Given the description of an element on the screen output the (x, y) to click on. 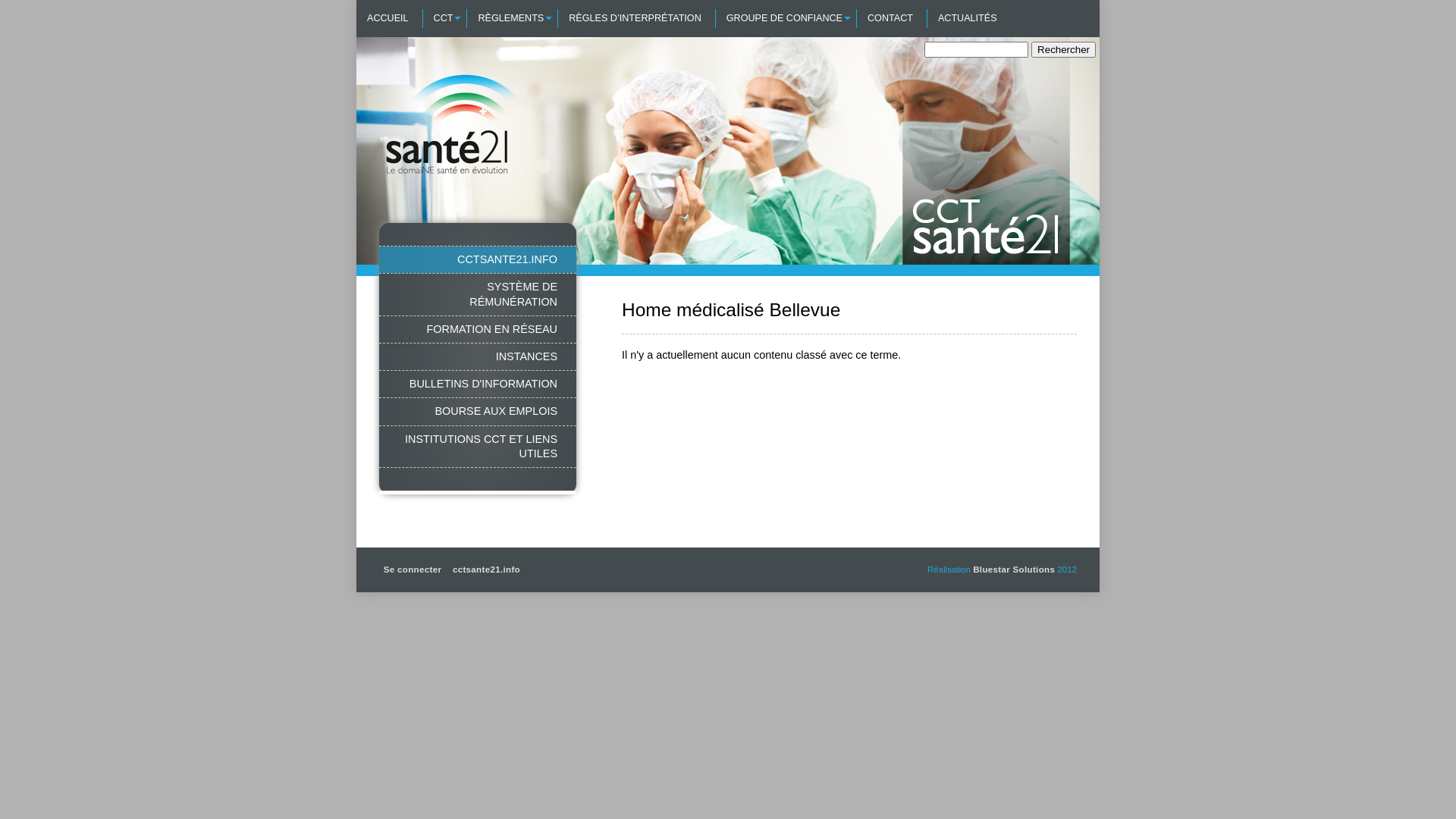
ACCUEIL Element type: text (387, 18)
CCT Element type: text (443, 18)
CONTACT Element type: text (889, 18)
Rechercher Element type: text (1063, 49)
Accueil Element type: hover (467, 222)
BOURSE AUX EMPLOIS Element type: text (477, 411)
cctsante21.info Element type: text (486, 569)
Bluestar Solutions Element type: text (1013, 569)
Menu Element type: text (15, 0)
INSTANCES Element type: text (477, 356)
GROUPE DE CONFIANCE Element type: text (784, 18)
INSTITUTIONS CCT ET LIENS UTILES Element type: text (477, 446)
Aller au contenu principal Element type: text (74, 0)
BULLETINS D'INFORMATION Element type: text (477, 383)
CCTSANTE21.INFO Element type: text (477, 259)
Se connecter Element type: text (412, 569)
